Given the description of an element on the screen output the (x, y) to click on. 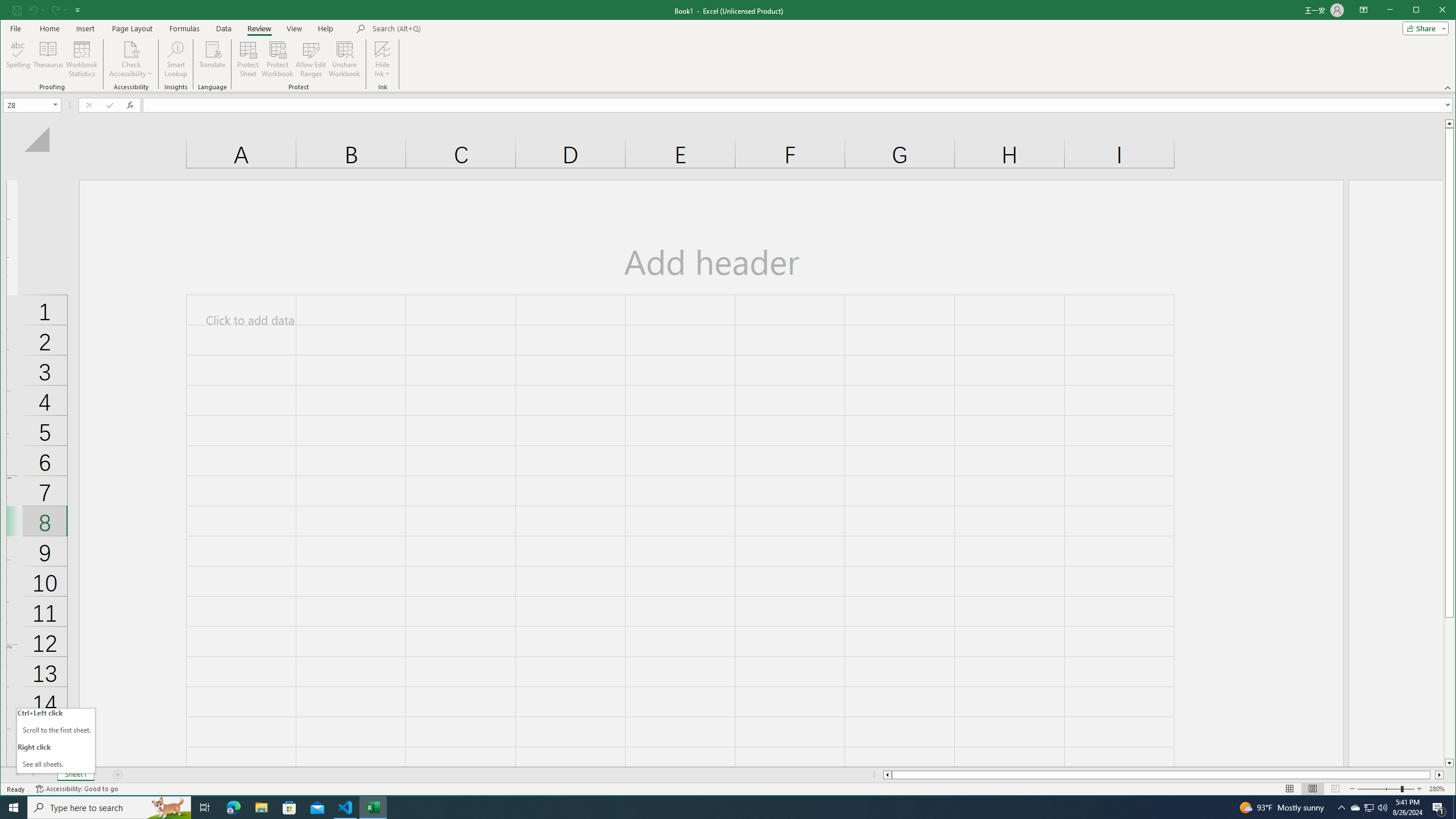
Running applications (717, 807)
Microsoft Store (289, 807)
Check Accessibility (130, 59)
